Given the description of an element on the screen output the (x, y) to click on. 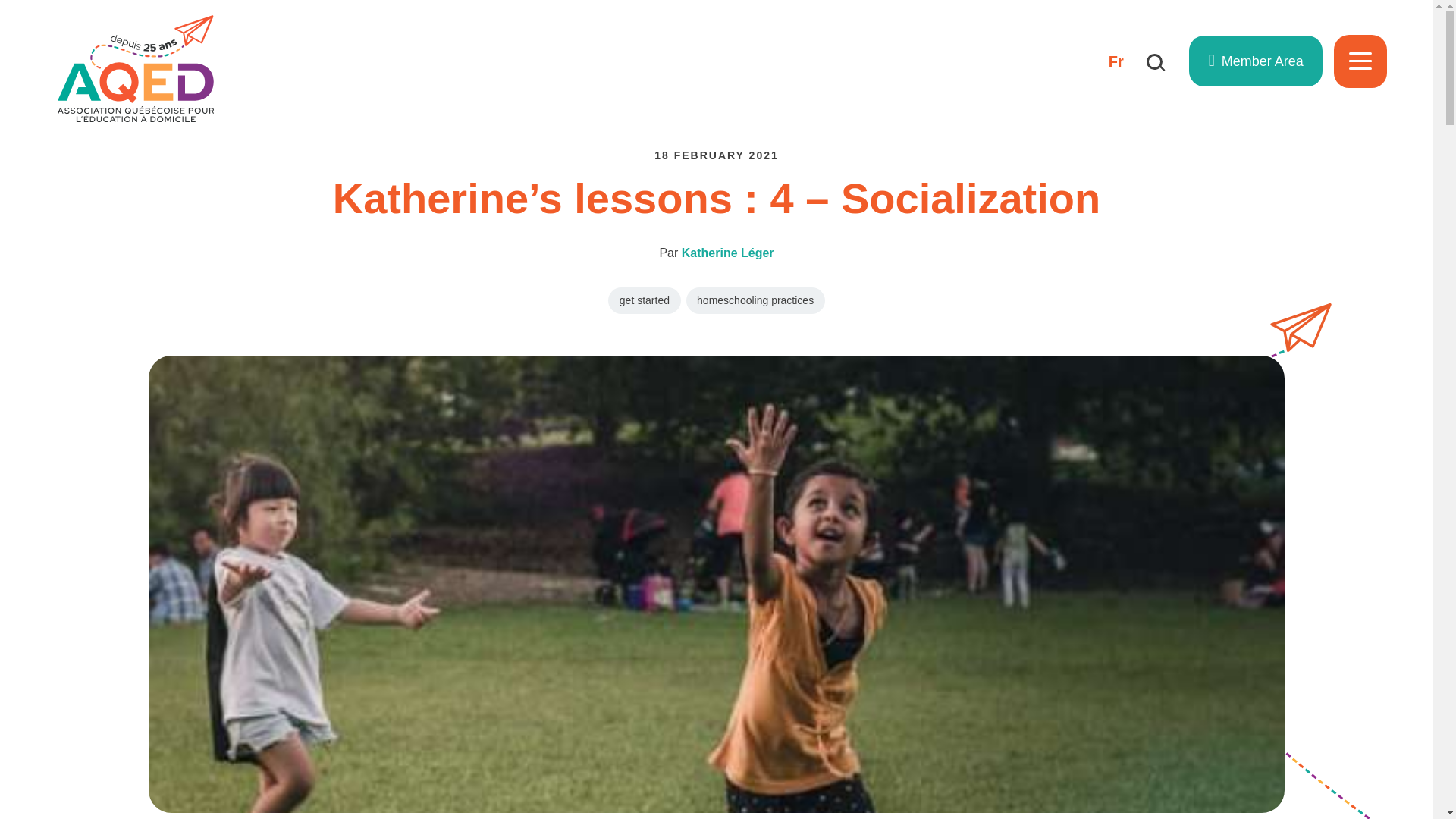
Member Area (1255, 60)
Research (1154, 61)
homeschooling practices (755, 300)
get started (643, 300)
